Given the description of an element on the screen output the (x, y) to click on. 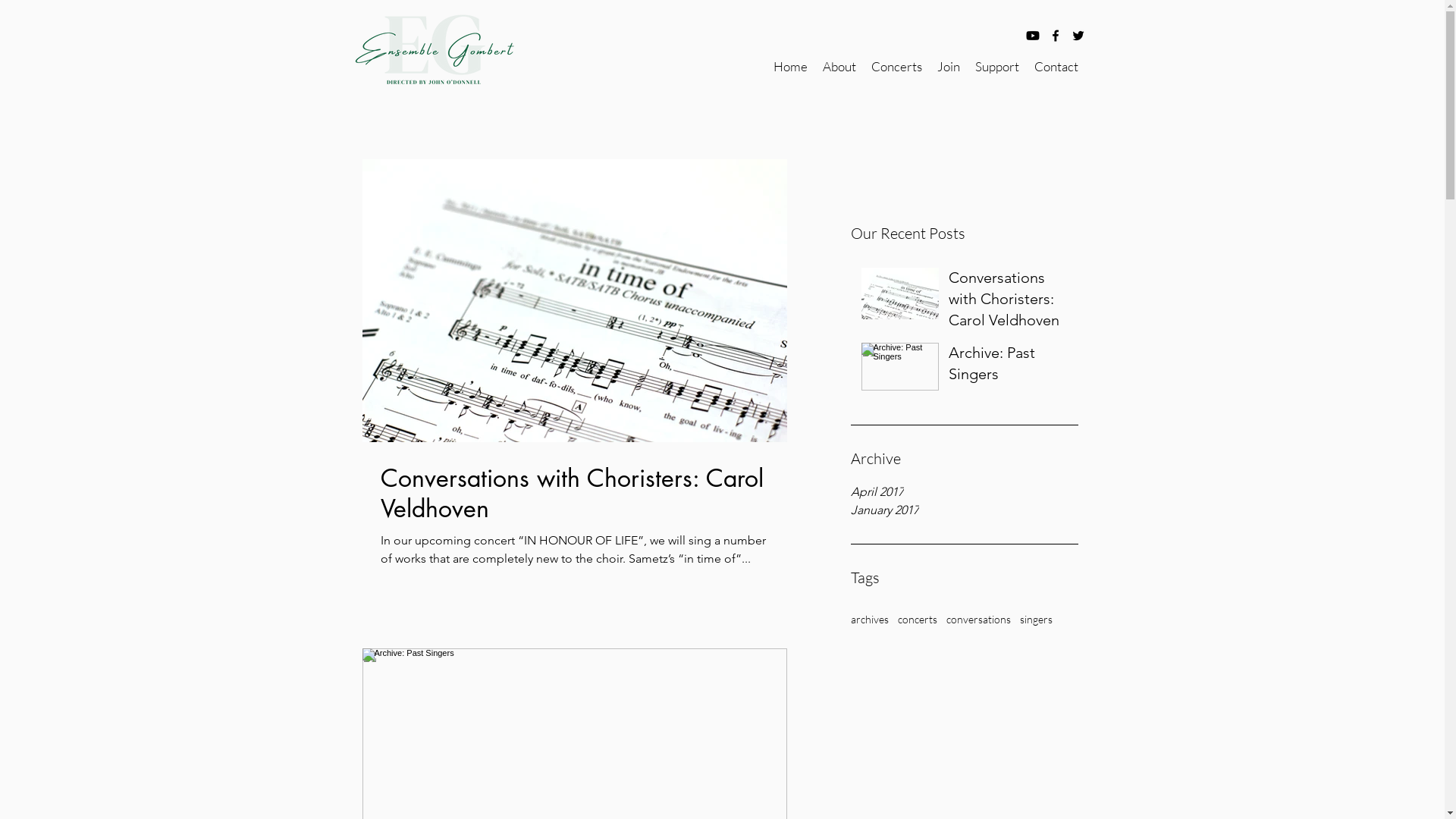
Concerts Element type: text (895, 66)
conversations Element type: text (978, 619)
Conversations with Choristers: Carol Veldhoven Element type: text (574, 493)
Home Element type: text (790, 66)
singers Element type: text (1035, 619)
Join Element type: text (948, 66)
Support Element type: text (996, 66)
Archive: Past Singers Element type: text (1008, 366)
Contact Element type: text (1055, 66)
concerts Element type: text (917, 619)
April 2017 Element type: text (964, 492)
archives Element type: text (869, 619)
Conversations with Choristers: Carol Veldhoven Element type: text (1008, 301)
January 2017 Element type: text (964, 510)
